Given the description of an element on the screen output the (x, y) to click on. 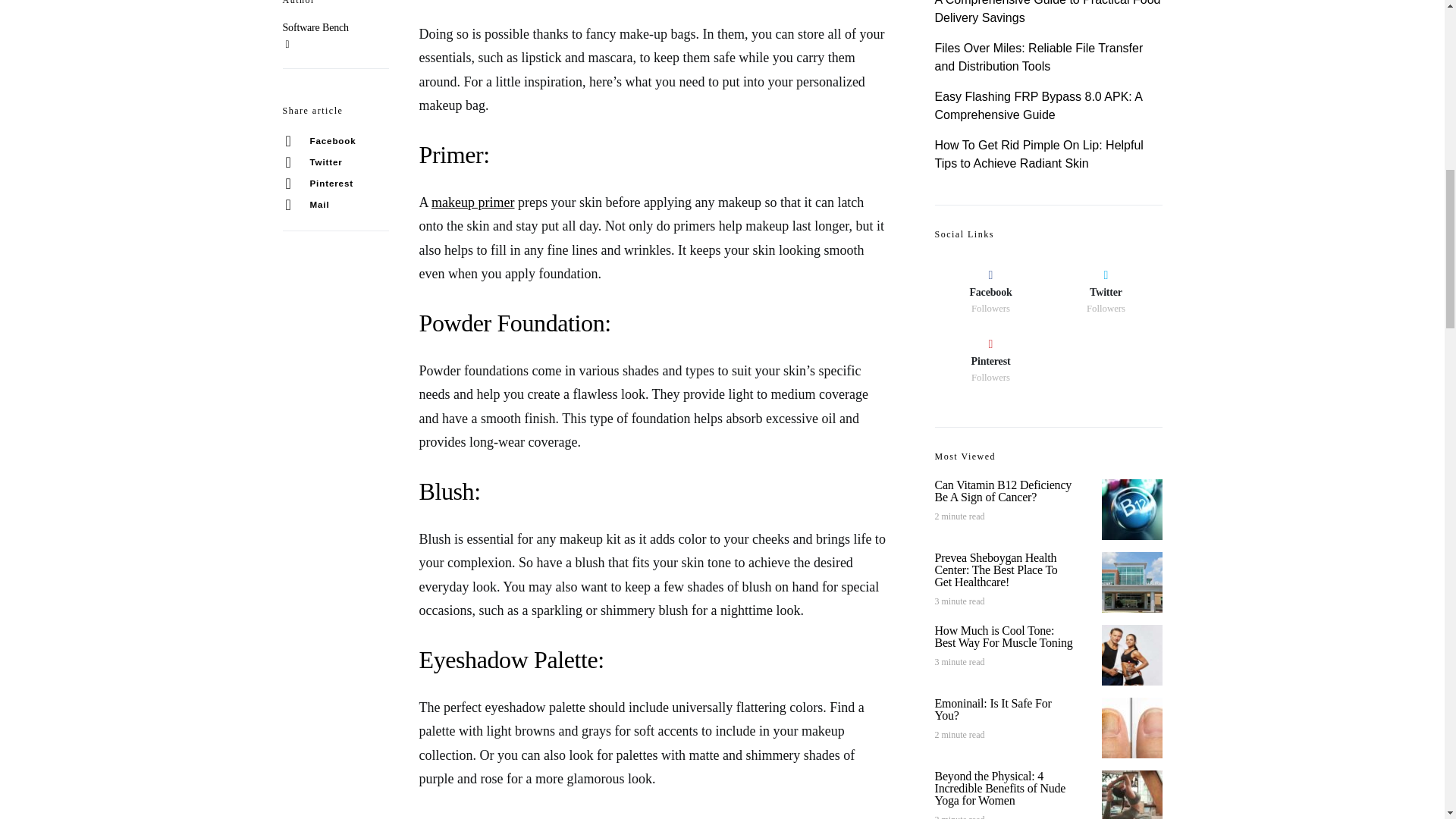
makeup primer (471, 201)
Mail (335, 185)
Twitter (335, 142)
Software Bench (314, 27)
Pinterest (335, 164)
Facebook (335, 121)
